Given the description of an element on the screen output the (x, y) to click on. 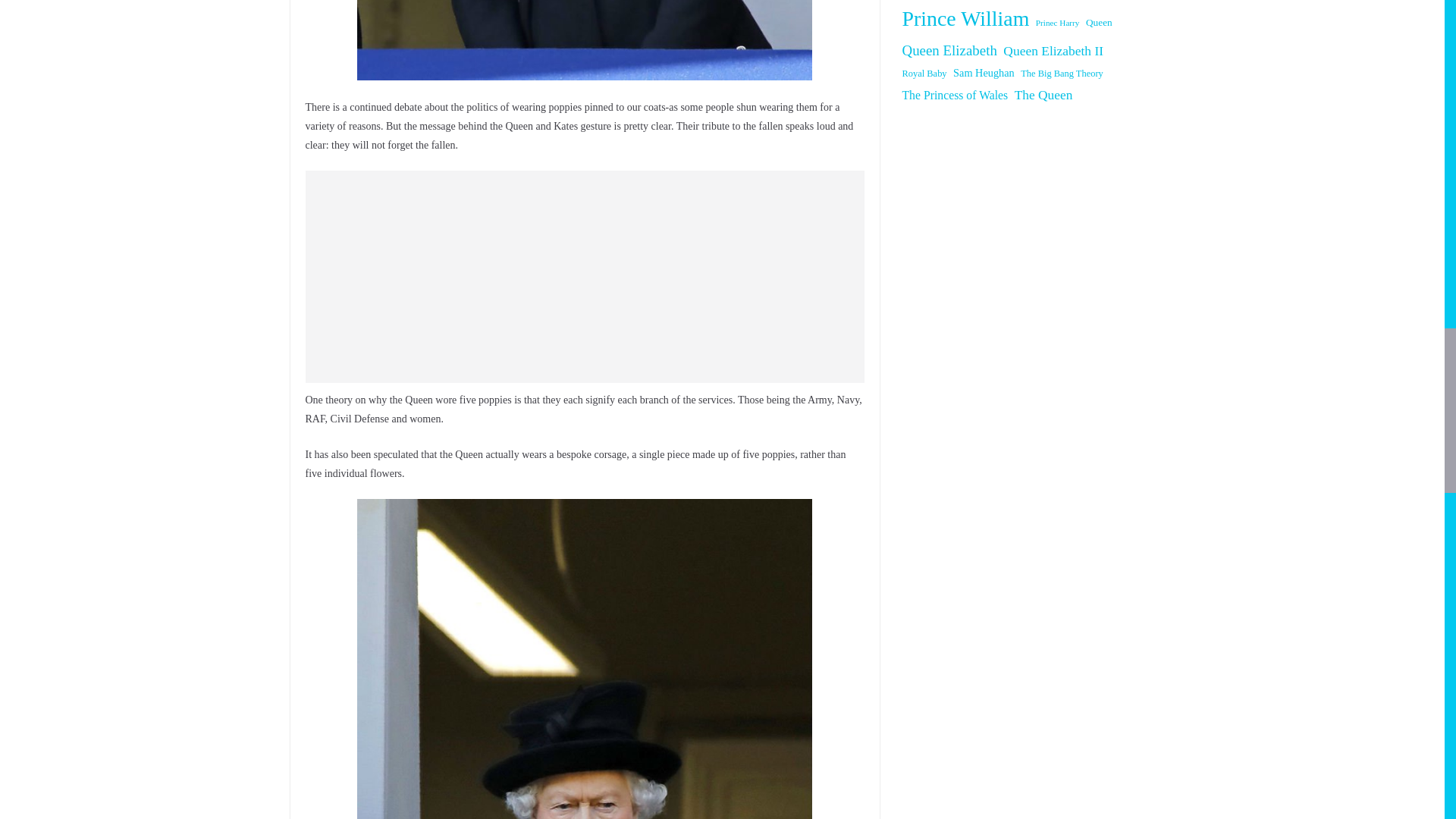
Advertisement (583, 276)
